Given the description of an element on the screen output the (x, y) to click on. 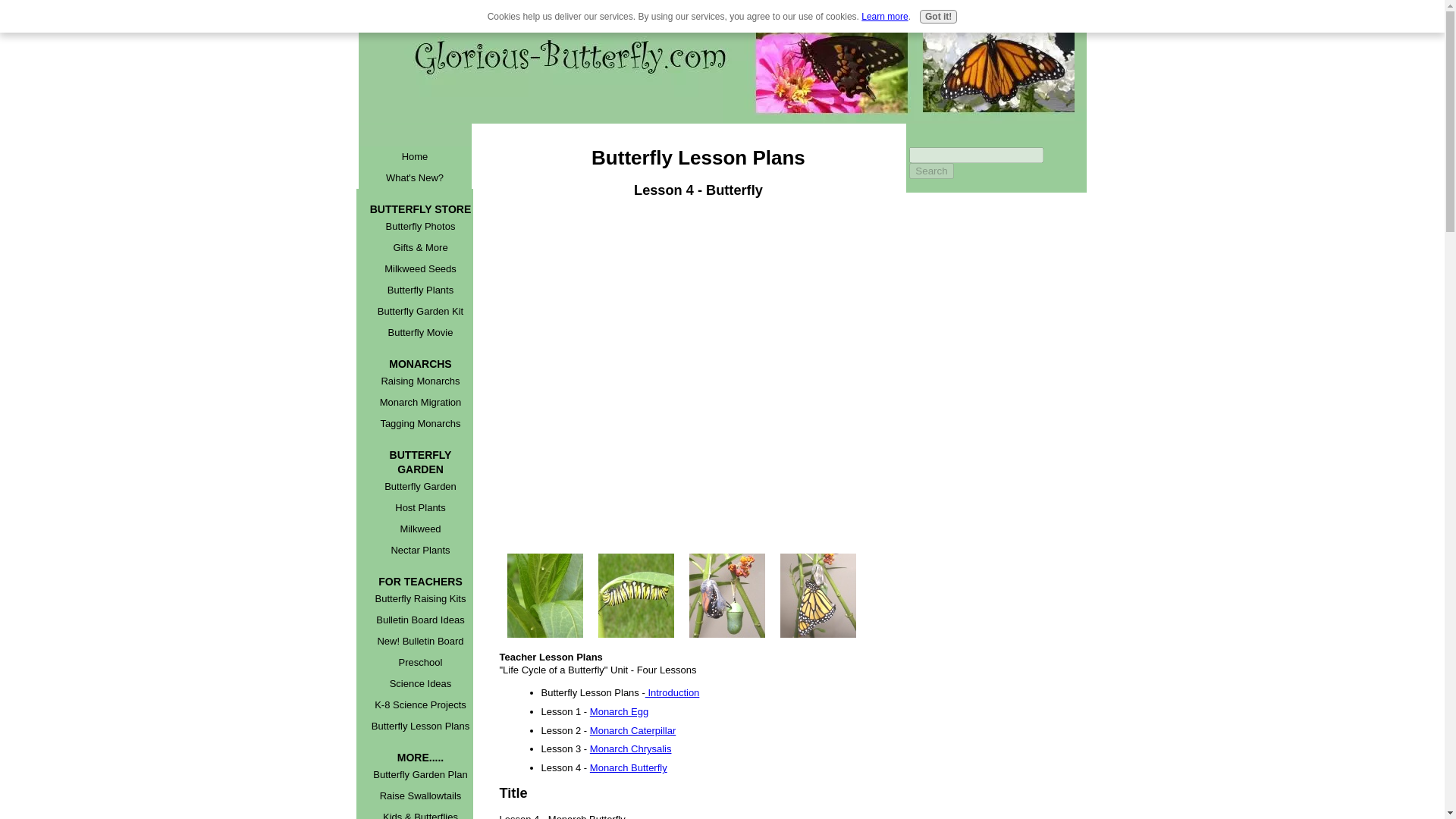
Butterfly Raising Kits (420, 598)
Monarch Egg (618, 711)
Raise Swallowtails (420, 795)
Butterfly Lesson Plans (420, 726)
Monarch Chrysalis (630, 748)
Introduction (672, 692)
Milkweed (420, 528)
Butterfly Plants (420, 290)
Tagging Monarchs (420, 423)
Host Plants (420, 507)
